Given the description of an element on the screen output the (x, y) to click on. 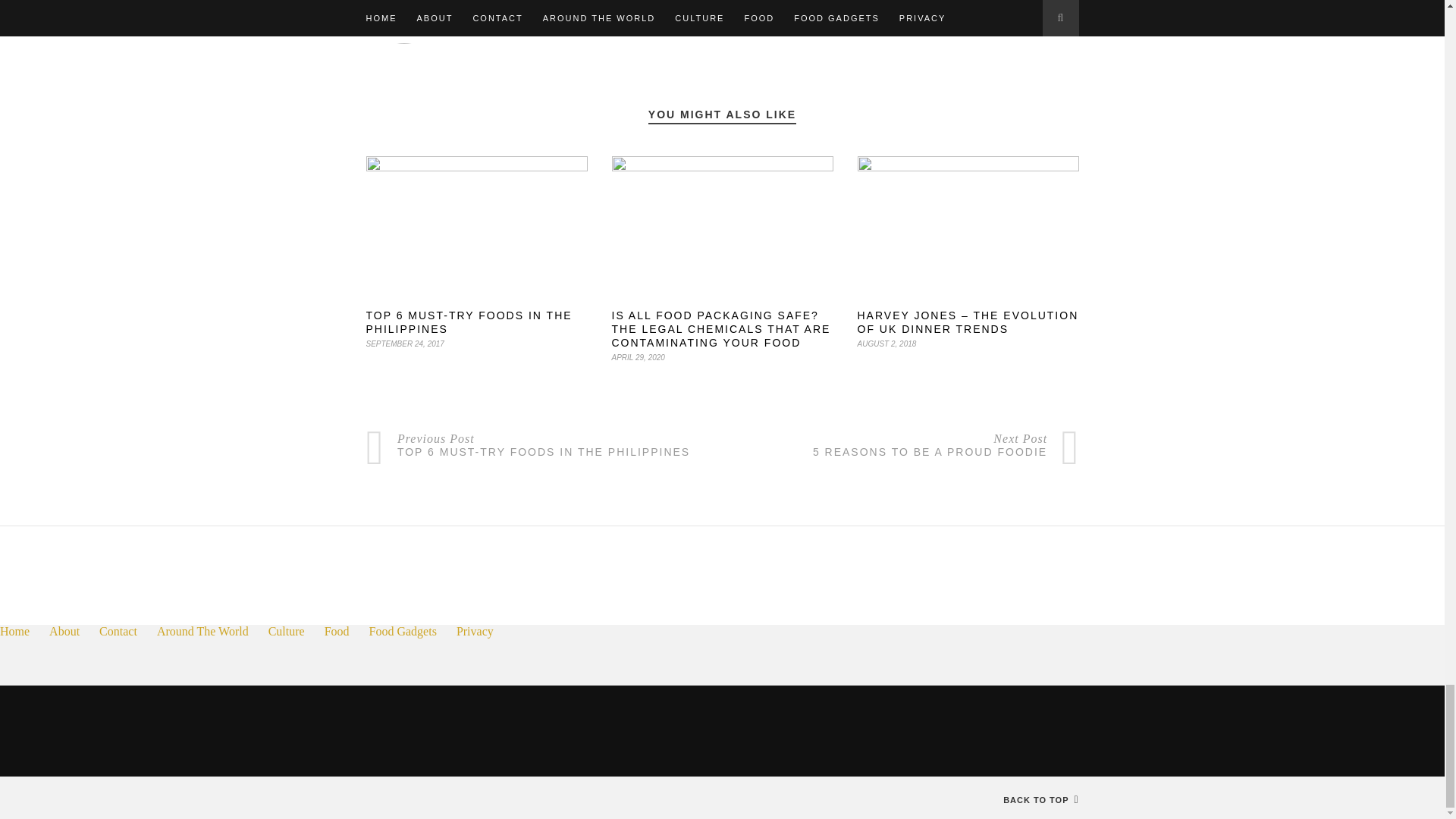
TOP 6 MUST-TRY FOODS IN THE PHILIPPINES (468, 321)
Privacy (475, 631)
Culture (285, 631)
Food Gadgets (402, 631)
Food (336, 631)
Contact (117, 631)
Around The World (202, 631)
